Given the description of an element on the screen output the (x, y) to click on. 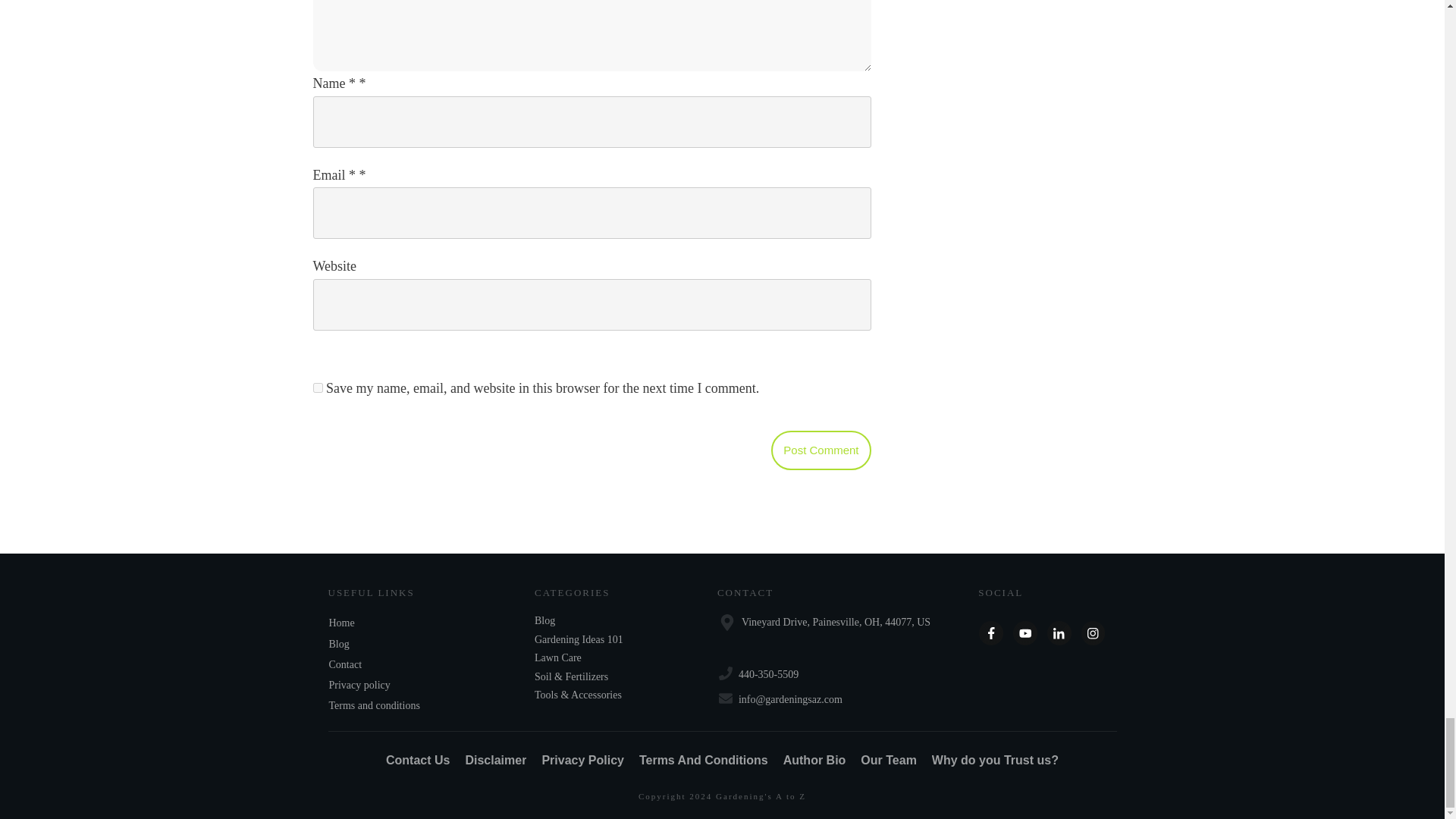
yes (317, 388)
Post Comment (820, 450)
